Given the description of an element on the screen output the (x, y) to click on. 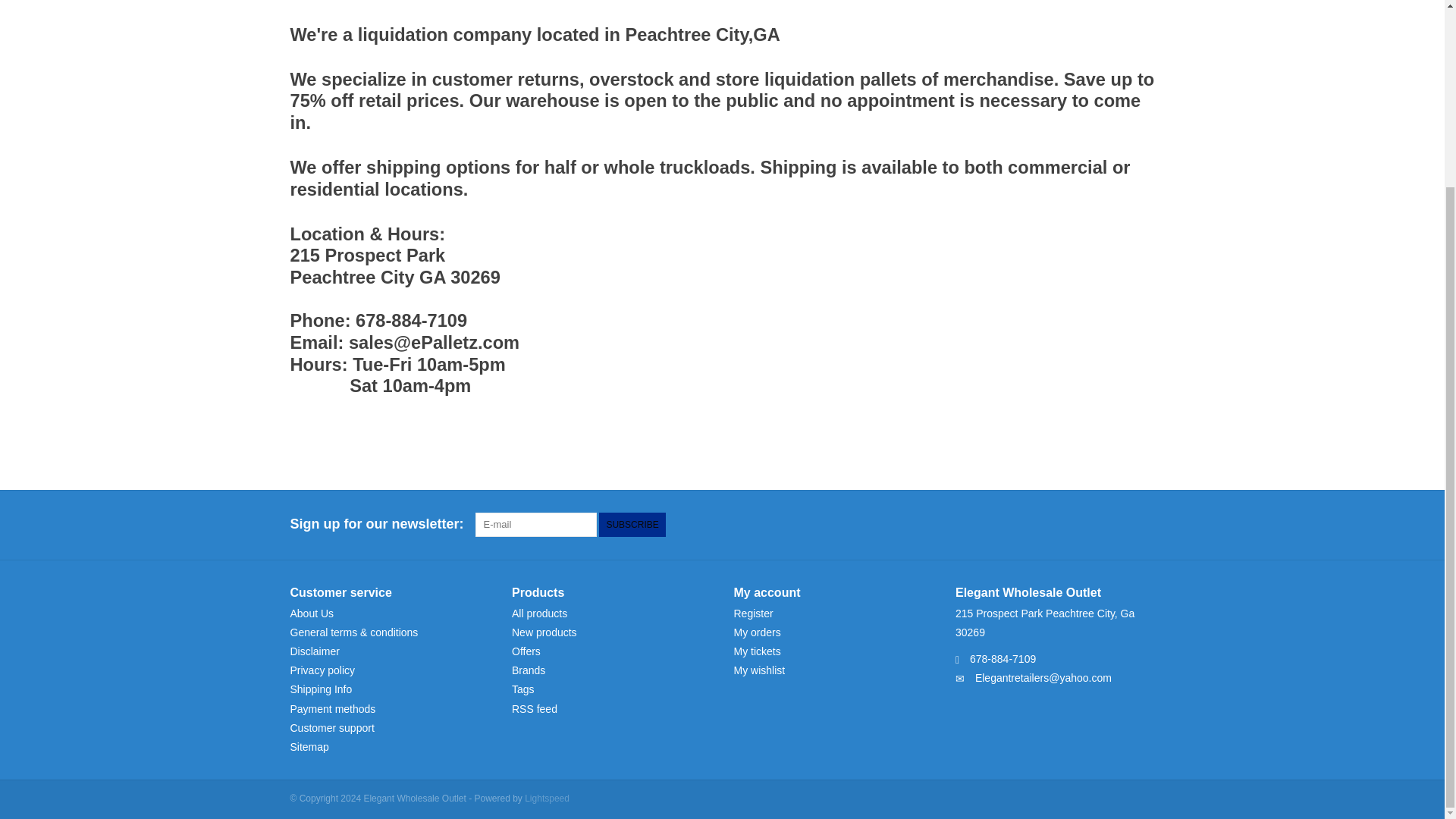
SUBSCRIBE (631, 524)
Customer support (331, 727)
Disclaimer (314, 651)
Payment methods (332, 708)
Shipping Info (320, 689)
Privacy policy (322, 670)
About Us (311, 613)
